Given the description of an element on the screen output the (x, y) to click on. 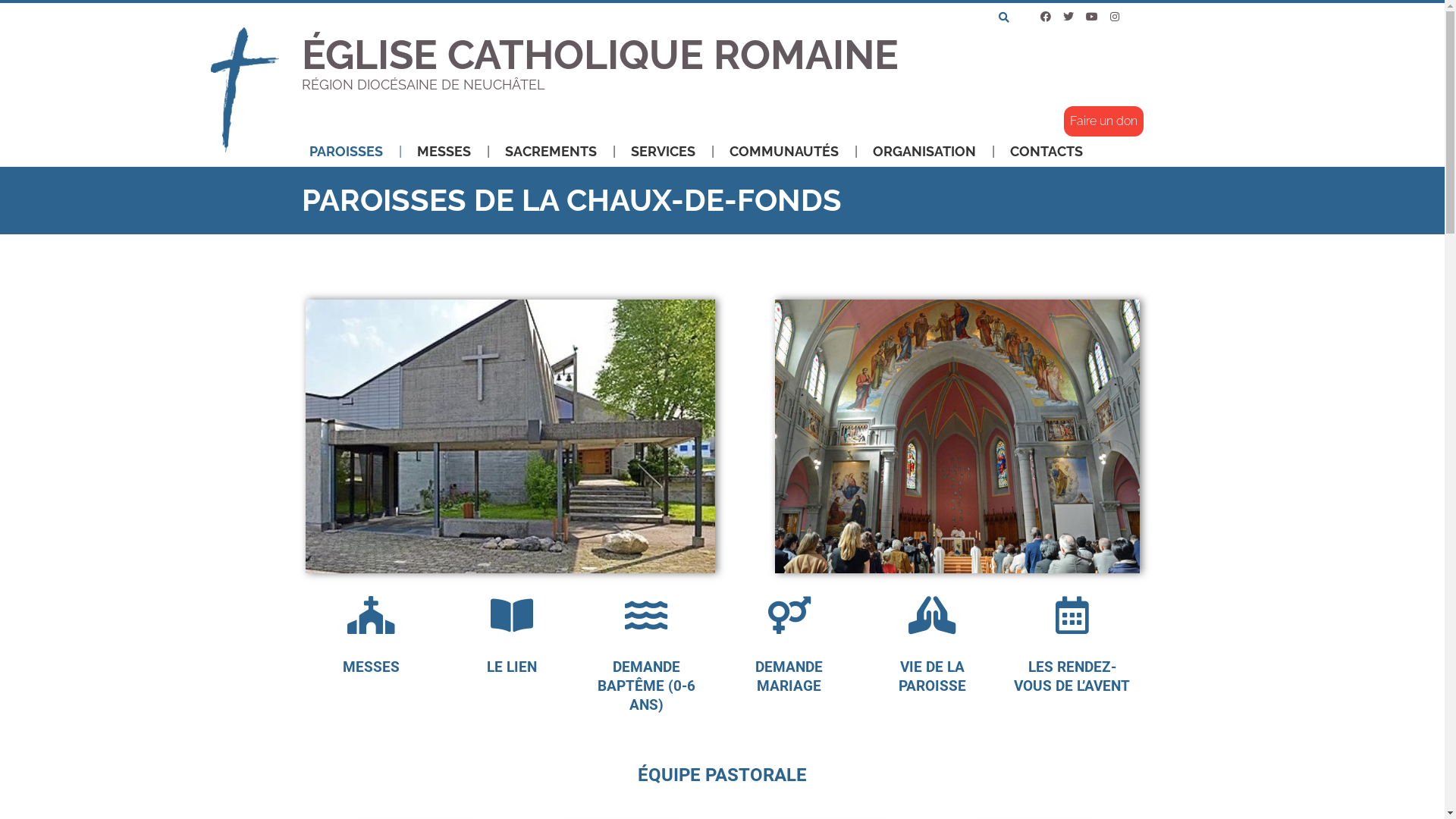
DEMANDE MARIAGE Element type: text (788, 676)
MESSES Element type: text (453, 151)
VIE DE LA PAROISSE Element type: text (932, 676)
SERVICES Element type: text (672, 151)
SACREMENTS Element type: text (560, 151)
EGLISE-SACRE-COEUR.jpg Element type: hover (957, 435)
ORGANISATION Element type: text (932, 151)
Faire un don Element type: text (1102, 121)
MESSES Element type: text (370, 666)
PAROISSES Element type: text (355, 151)
LE LIEN Element type: text (511, 666)
CONTACTS Element type: text (1046, 151)
